Given the description of an element on the screen output the (x, y) to click on. 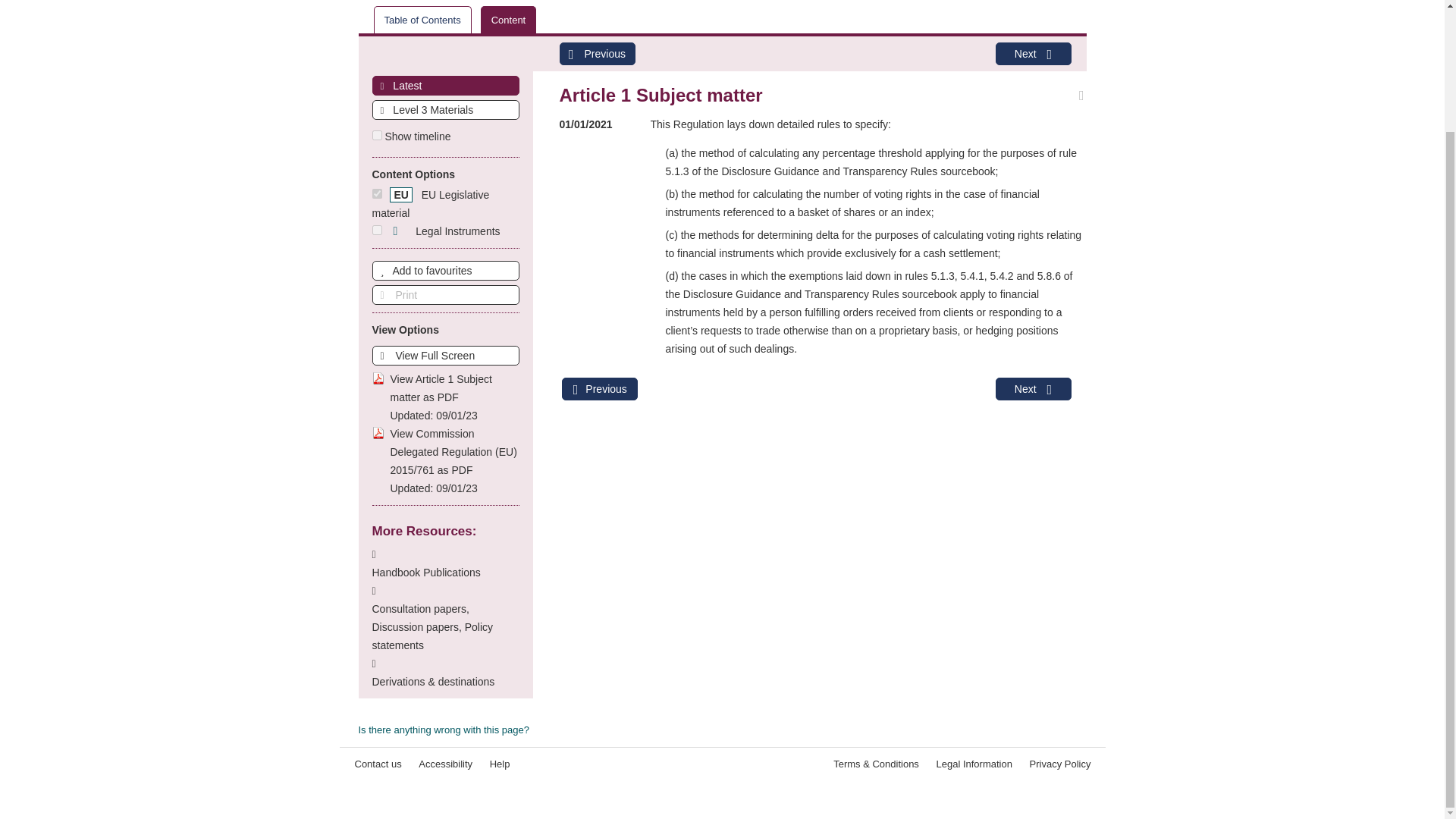
Previous (596, 53)
Add to favourites (444, 270)
Toggle EU Legislative material on and off (376, 194)
Toggle Legal instrument indicators on and off (444, 231)
Level 3 Materials (445, 109)
Print (444, 294)
Next (1032, 53)
Navigate one page forwards (1032, 53)
legal (376, 230)
print (444, 294)
Toggle EU Legislative material on and off (430, 204)
true (376, 135)
Table of Contents (421, 19)
